Given the description of an element on the screen output the (x, y) to click on. 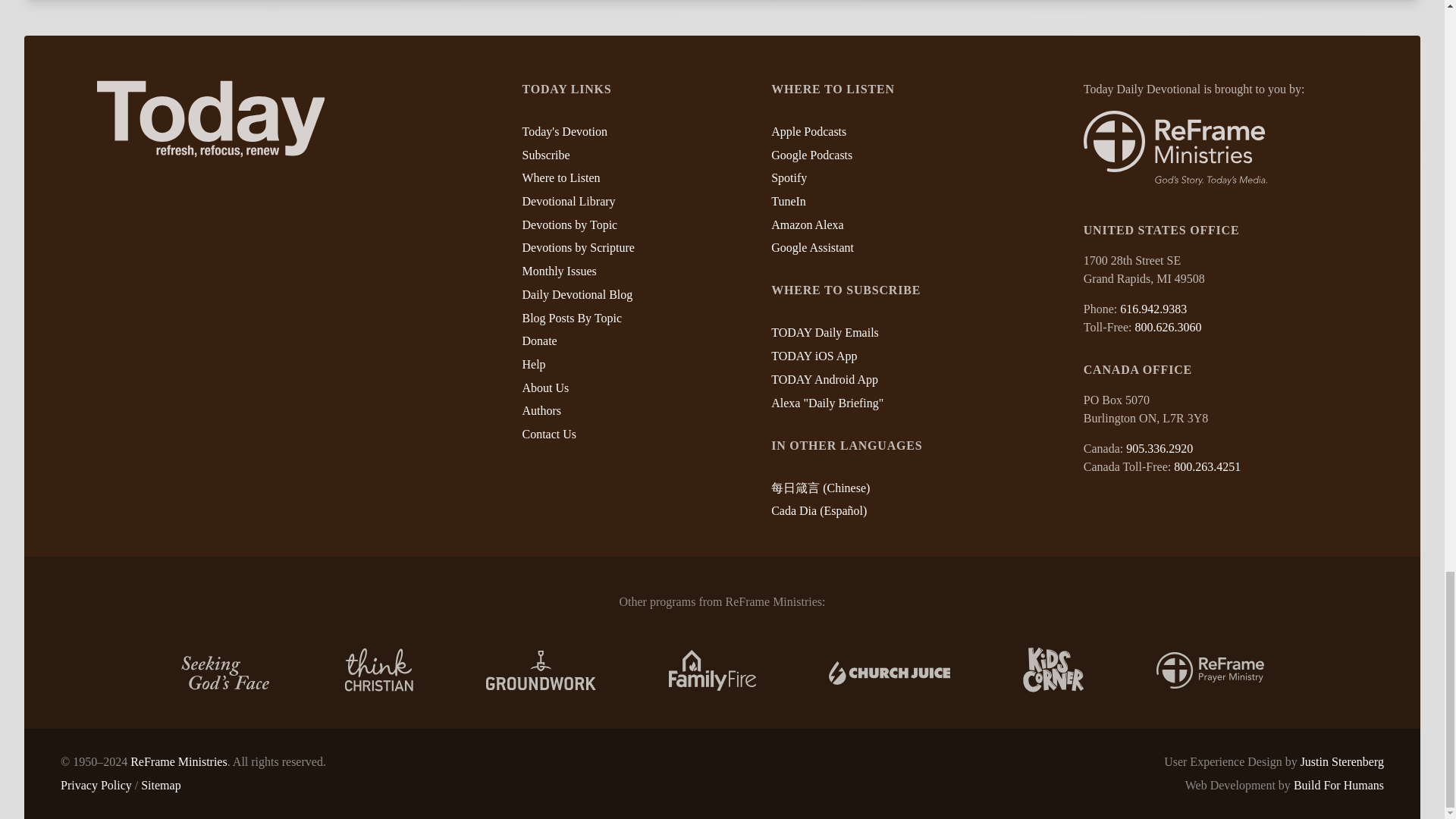
ReFrame Ministries: God's story. Today's media. (1174, 147)
Today's Devotion (564, 131)
Subscribe (545, 154)
Today Daily Devotional (210, 119)
Where to Listen (560, 177)
Devotional Library (567, 201)
Devotions by Scripture (577, 246)
Church Juice - Energizing Church Communications (888, 669)
Monthly Issues (558, 270)
